Given the description of an element on the screen output the (x, y) to click on. 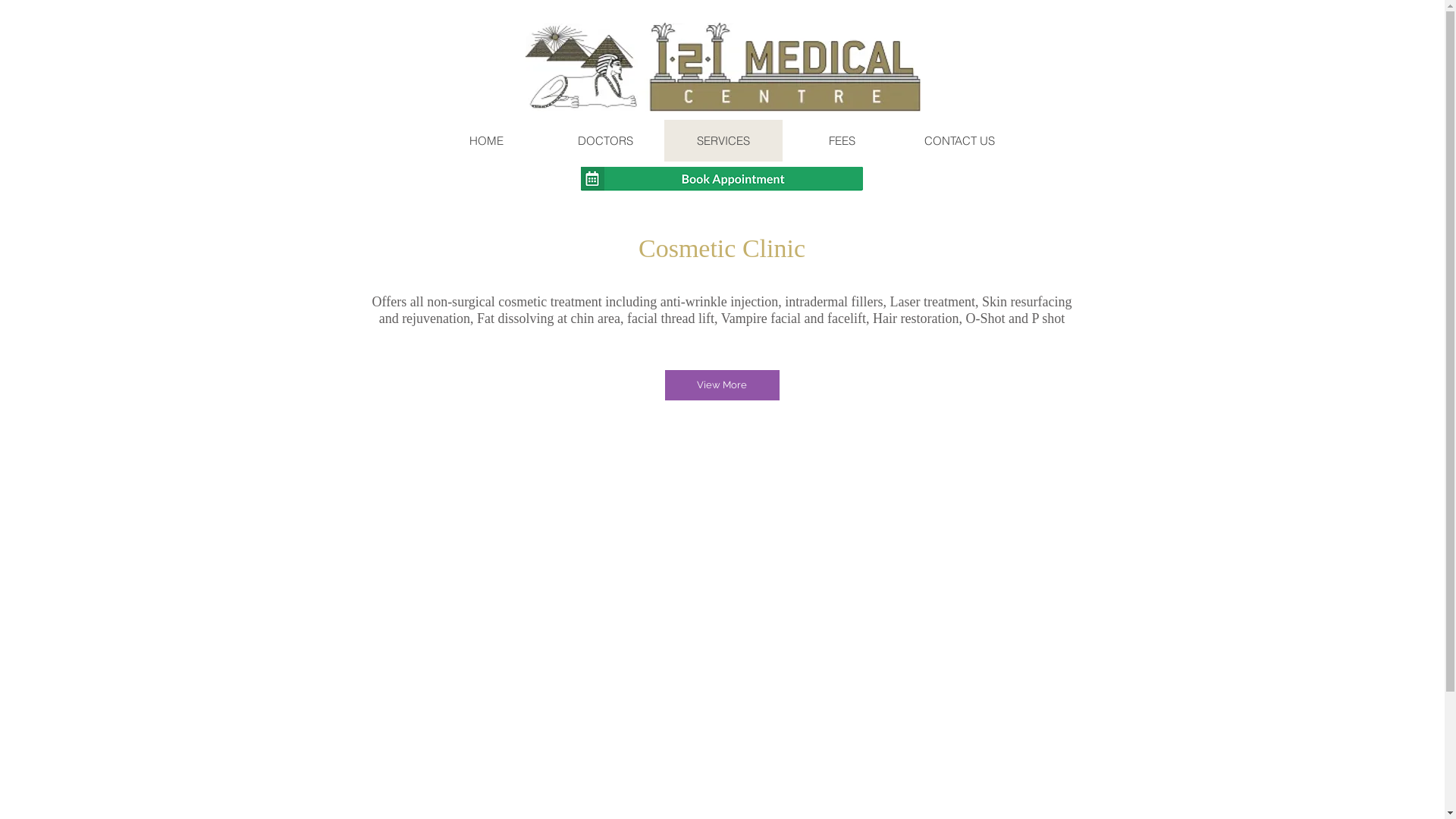
FEES Element type: text (841, 140)
CONTACT US Element type: text (959, 140)
DOCTORS Element type: text (605, 140)
View More Element type: text (721, 385)
HOME Element type: text (486, 140)
SERVICES Element type: text (723, 140)
